Given the description of an element on the screen output the (x, y) to click on. 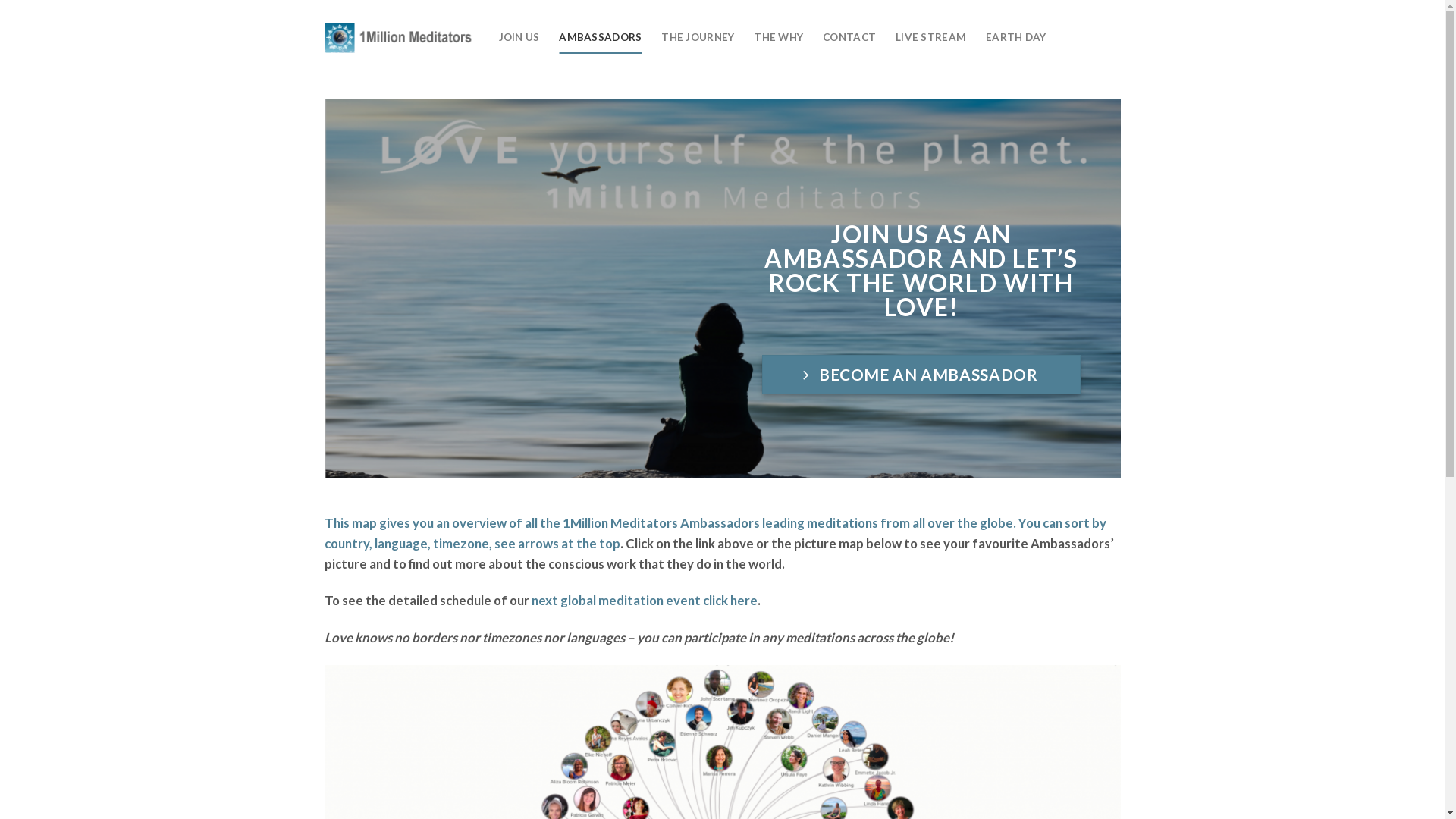
BECOME AN AMBASSADOR Element type: text (921, 374)
THE JOURNEY Element type: text (697, 37)
AMBASSADORS Element type: text (599, 37)
THE WHY Element type: text (778, 37)
EARTH DAY Element type: text (1015, 37)
LIVE STREAM Element type: text (930, 37)
CONTACT Element type: text (848, 37)
next global meditation event click here Element type: text (643, 600)
JOIN US Element type: text (518, 37)
